Given the description of an element on the screen output the (x, y) to click on. 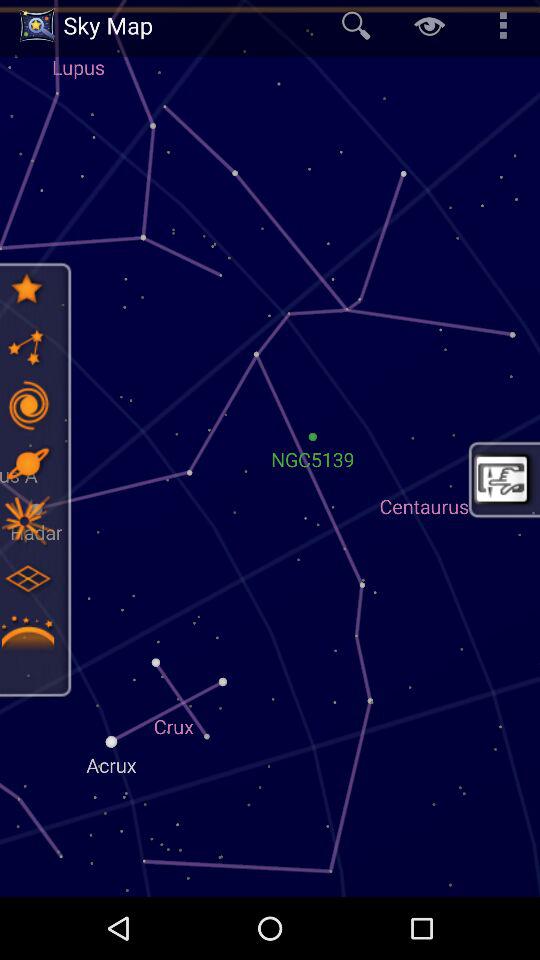
important to know (27, 636)
